Given the description of an element on the screen output the (x, y) to click on. 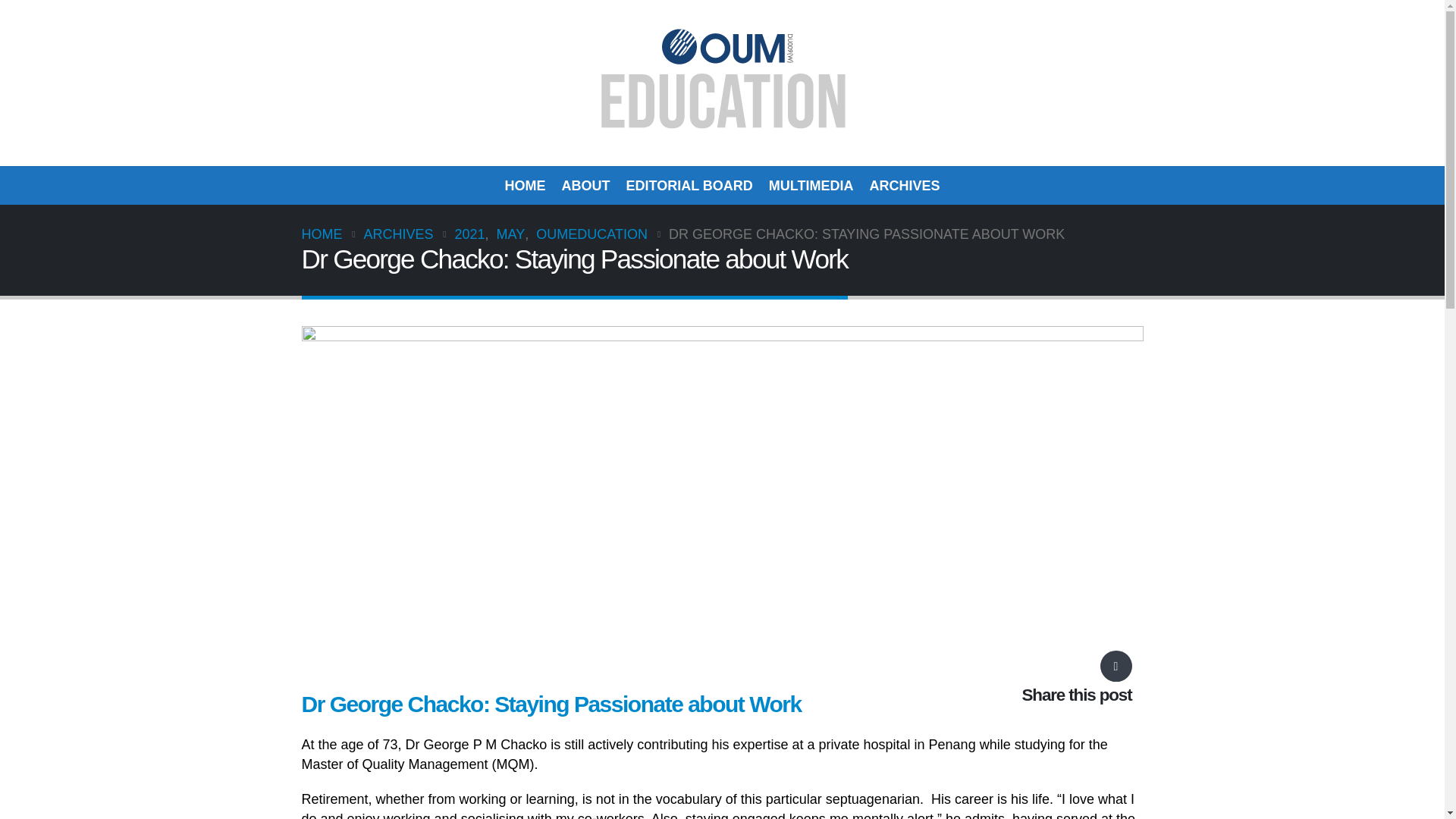
Facebook (1114, 670)
Go to Home Page (321, 234)
